Given the description of an element on the screen output the (x, y) to click on. 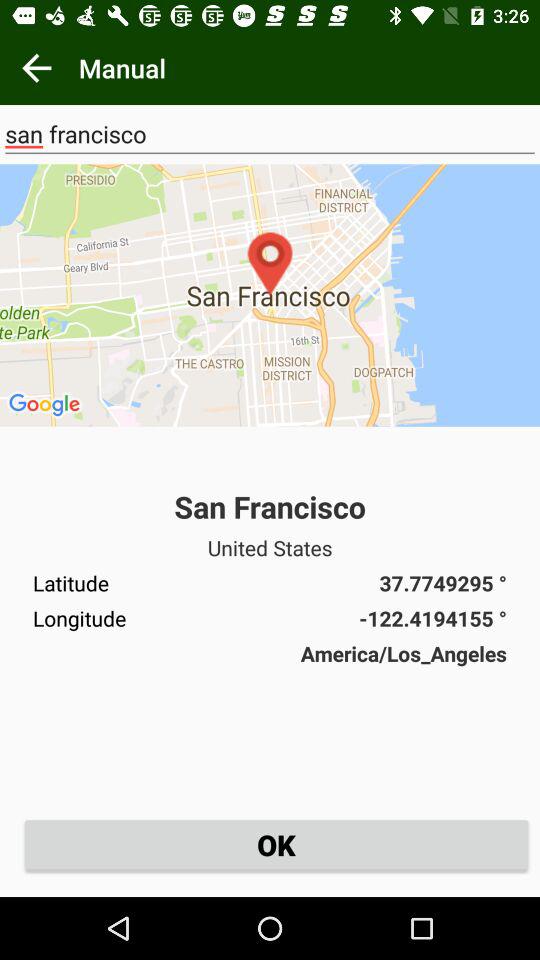
launch the item next to manual item (36, 68)
